Given the description of an element on the screen output the (x, y) to click on. 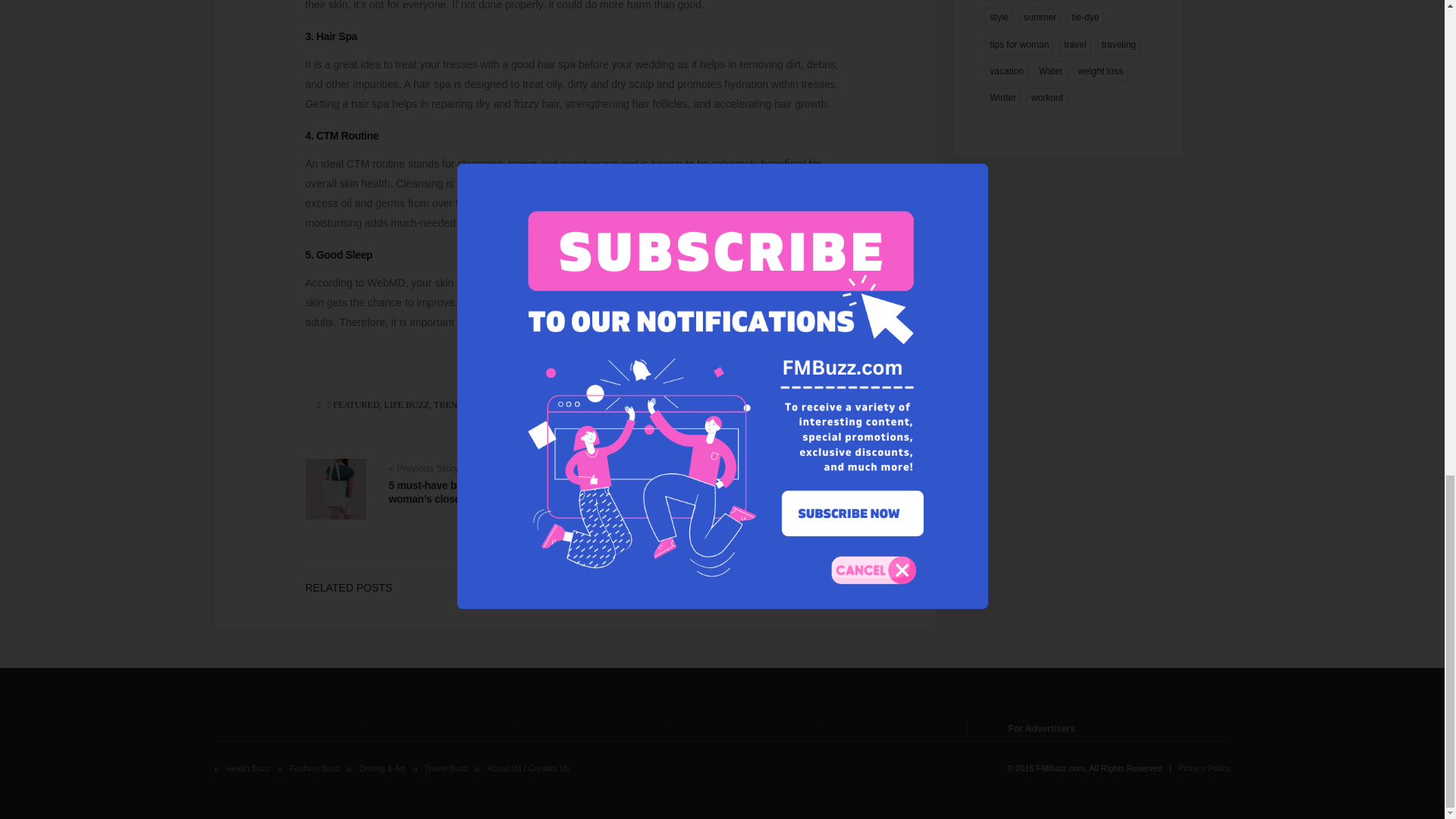
FEATURED (355, 404)
TRENDING (456, 404)
LIFE BUZZ (406, 404)
 LIKE (574, 382)
Top 5 picks for healthy skin (694, 485)
Like (574, 382)
